Given the description of an element on the screen output the (x, y) to click on. 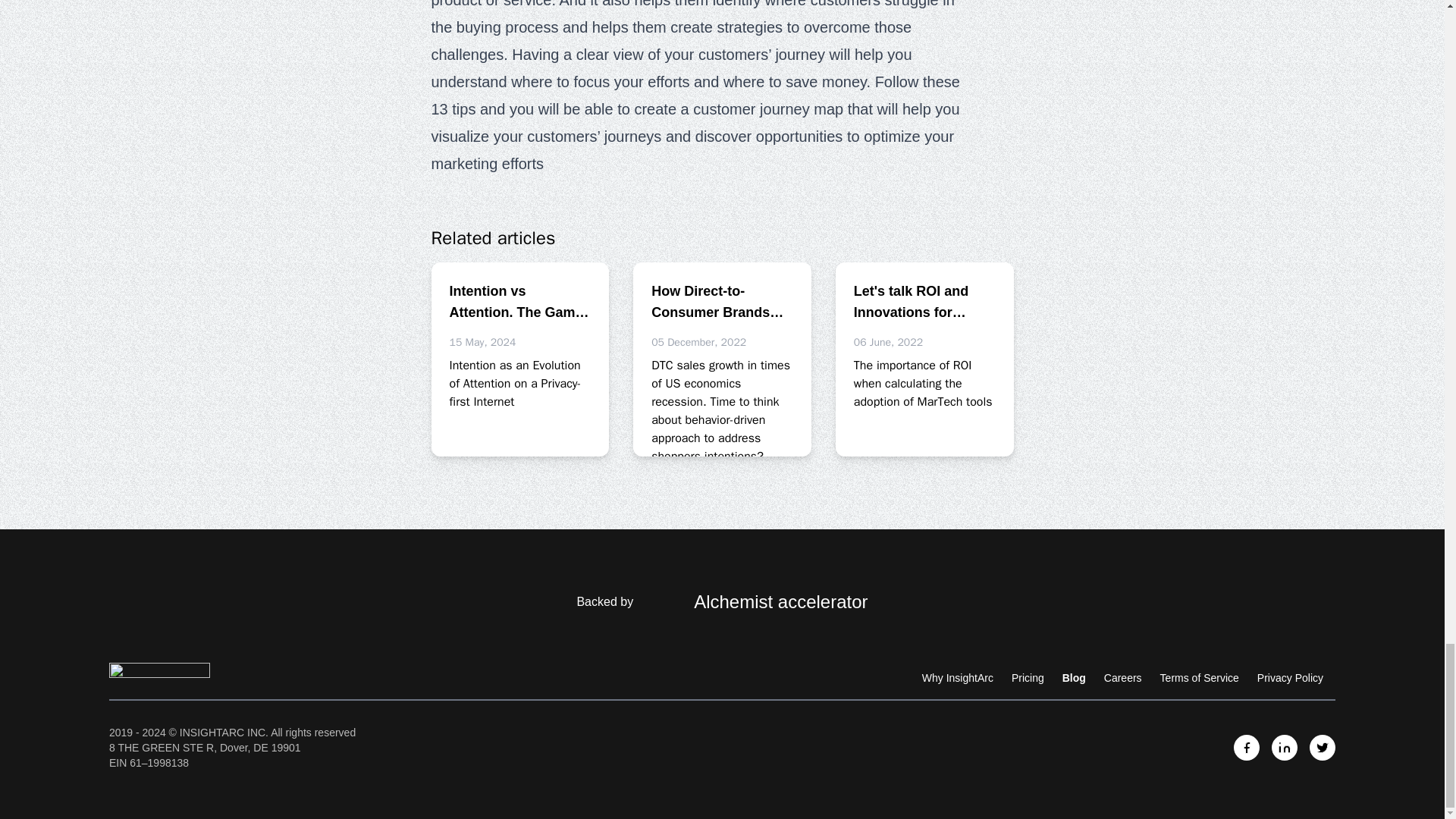
Blog (1074, 677)
Careers (1122, 677)
Terms of Service (1199, 677)
Alchemist accelerator (750, 602)
Why InsightArc (956, 677)
Pricing (1027, 677)
Privacy Policy (1290, 677)
